Given the description of an element on the screen output the (x, y) to click on. 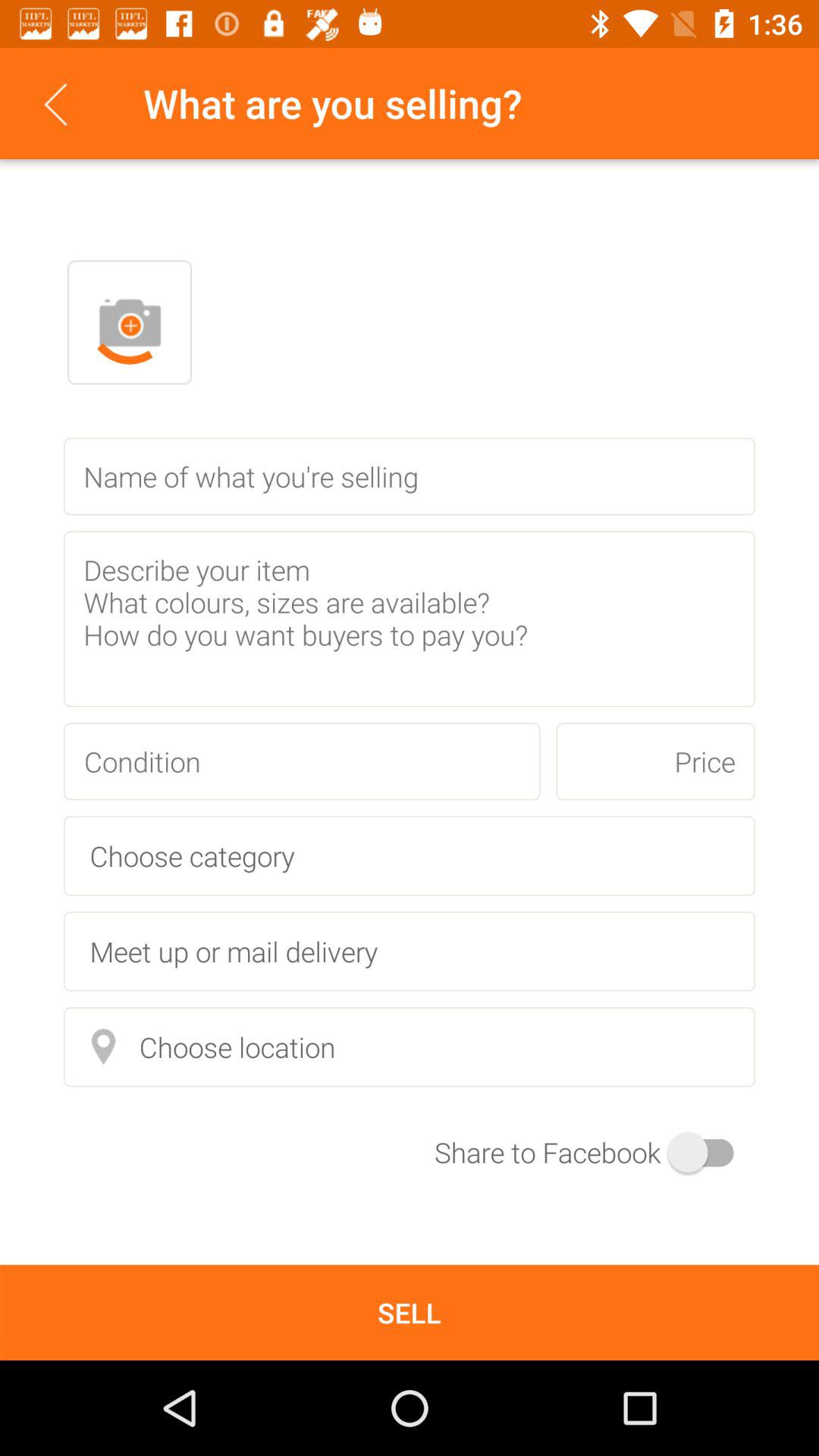
open the item below choose location (594, 1152)
